Given the description of an element on the screen output the (x, y) to click on. 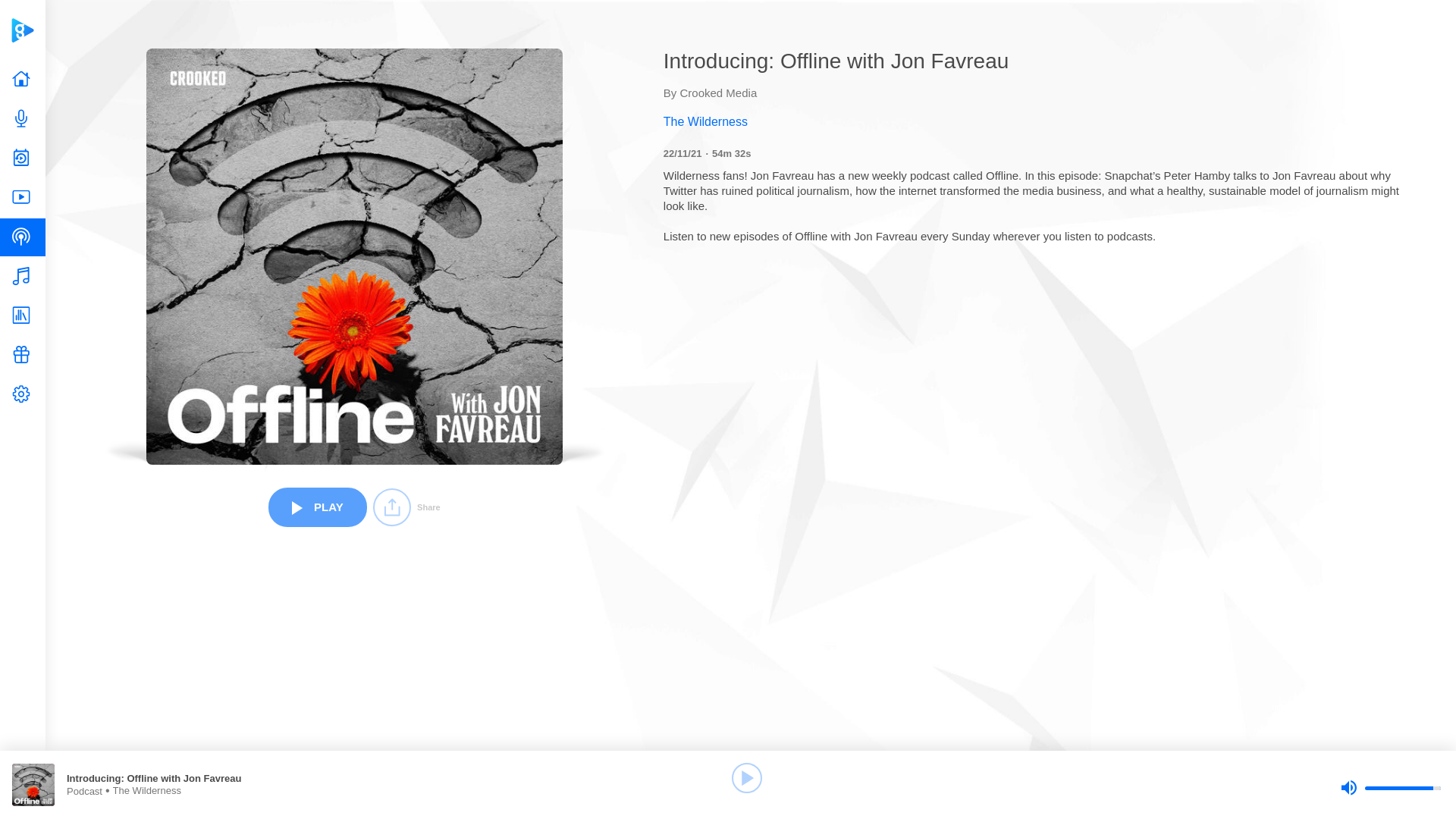
Share (406, 507)
Share (406, 507)
Global Player (22, 30)
The Wilderness (1035, 121)
PLAY (316, 507)
Global Player (22, 30)
